Given the description of an element on the screen output the (x, y) to click on. 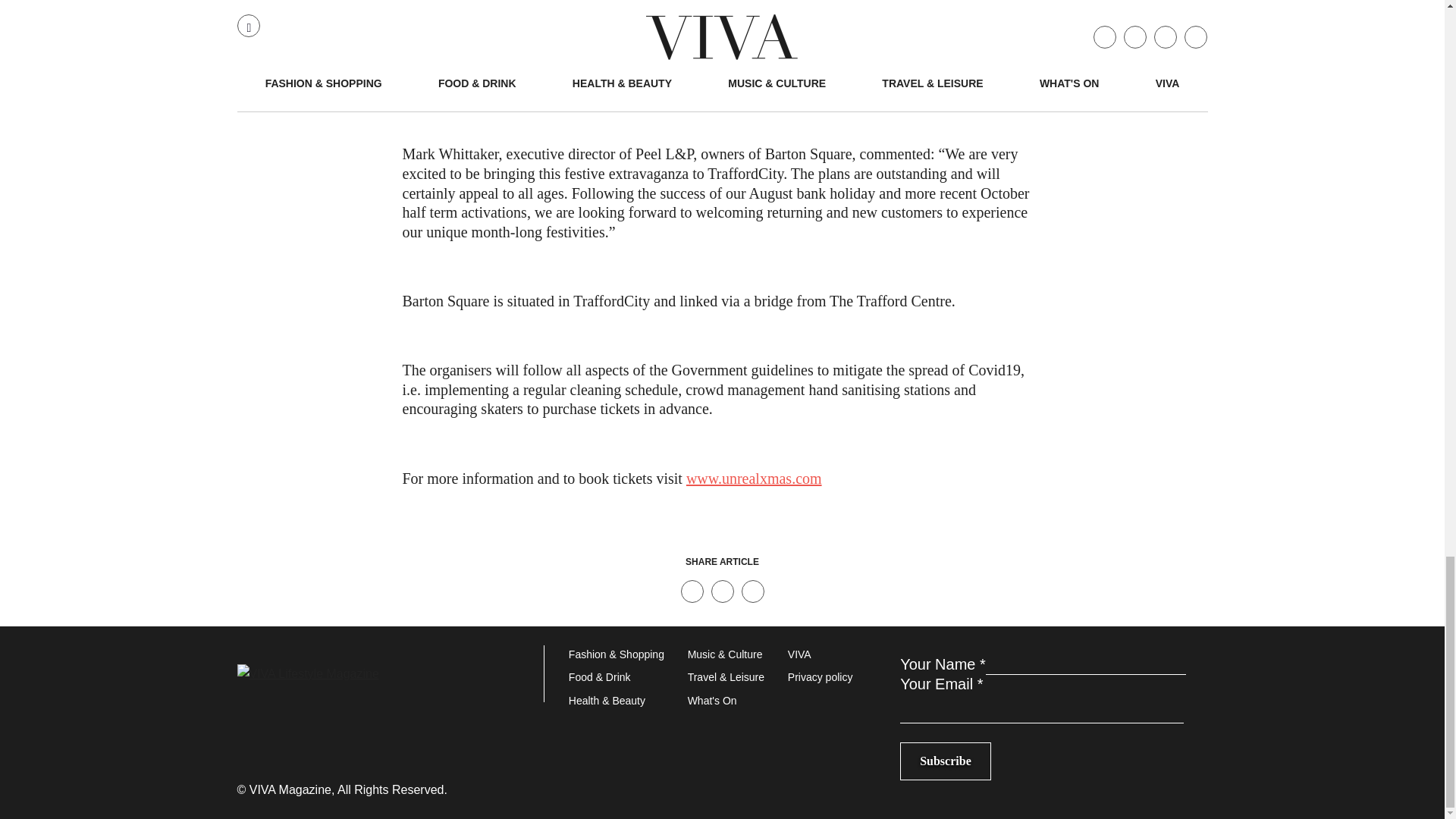
Subscribe (945, 761)
Privacy policy (831, 677)
www.unrealxmas.com (753, 478)
Subscribe (945, 761)
What's On (737, 701)
VIVA (831, 655)
